Given the description of an element on the screen output the (x, y) to click on. 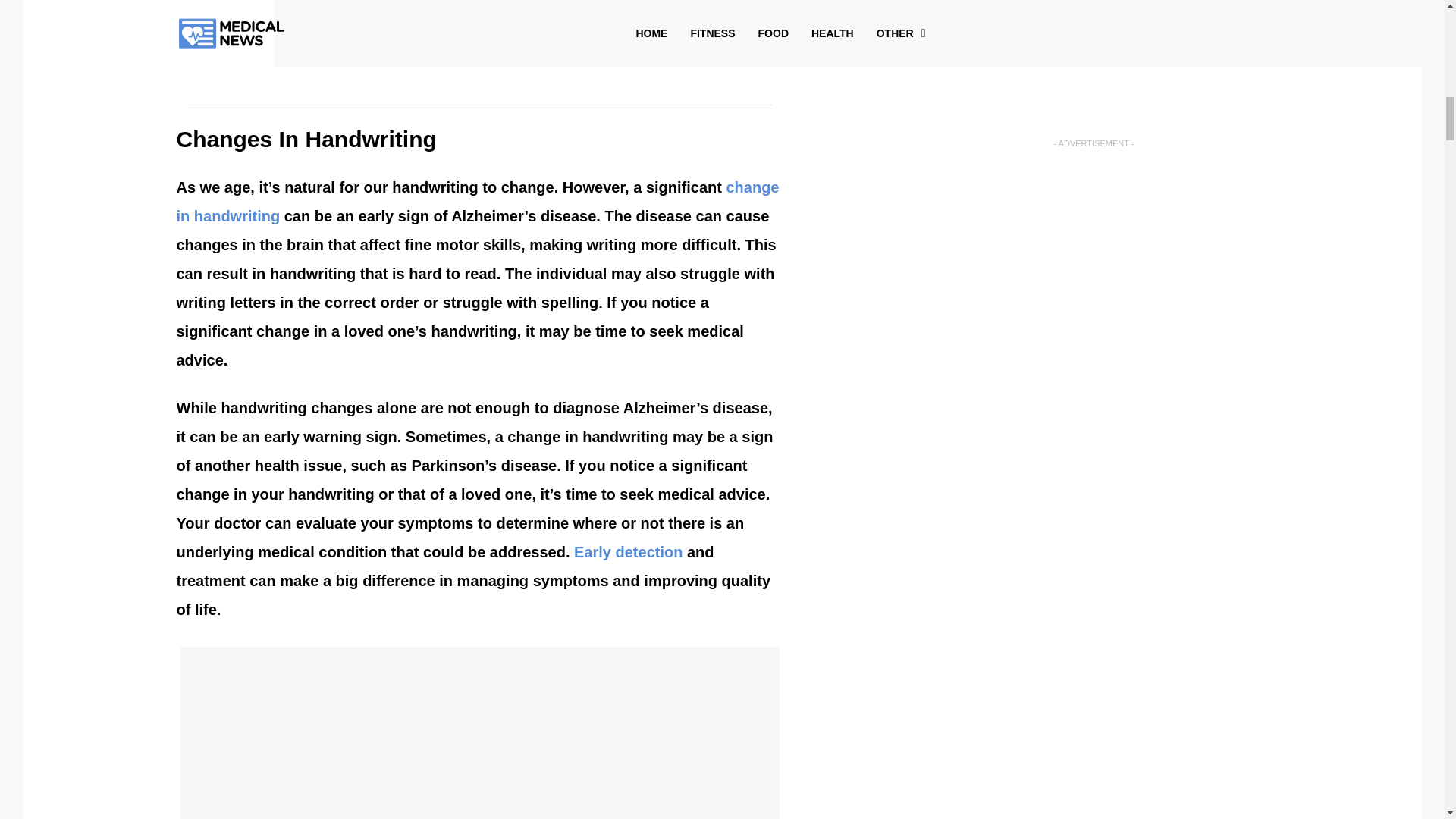
Early detection (627, 551)
change in handwriting (477, 201)
